Given the description of an element on the screen output the (x, y) to click on. 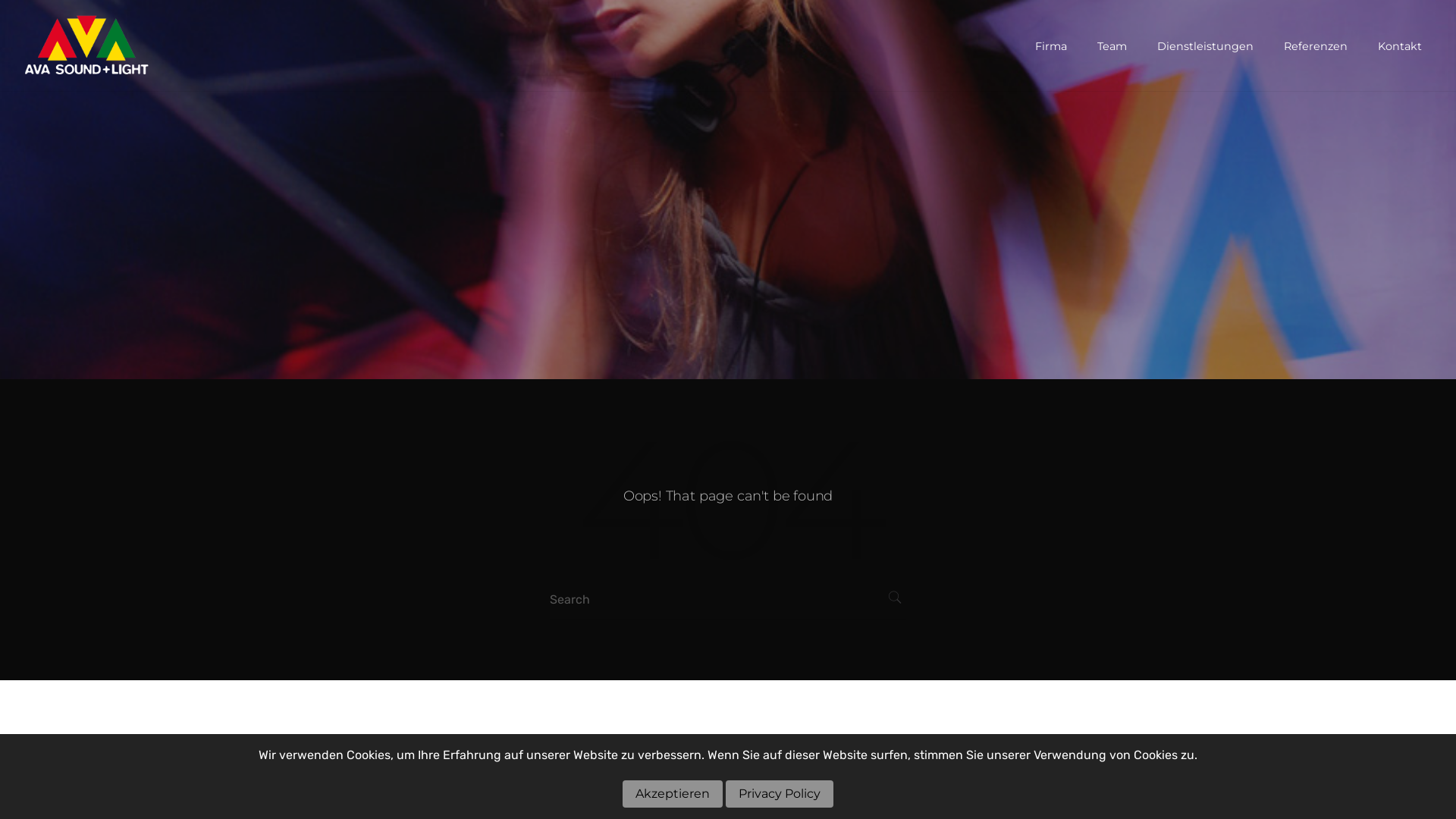
Firma Element type: text (1050, 45)
Team Element type: text (1112, 45)
Kontakt Element type: text (1399, 45)
Akzeptieren Element type: text (672, 793)
Privacy Policy Element type: text (779, 793)
Dienstleistungen Element type: text (1205, 45)
Referenzen Element type: text (1315, 45)
